Given the description of an element on the screen output the (x, y) to click on. 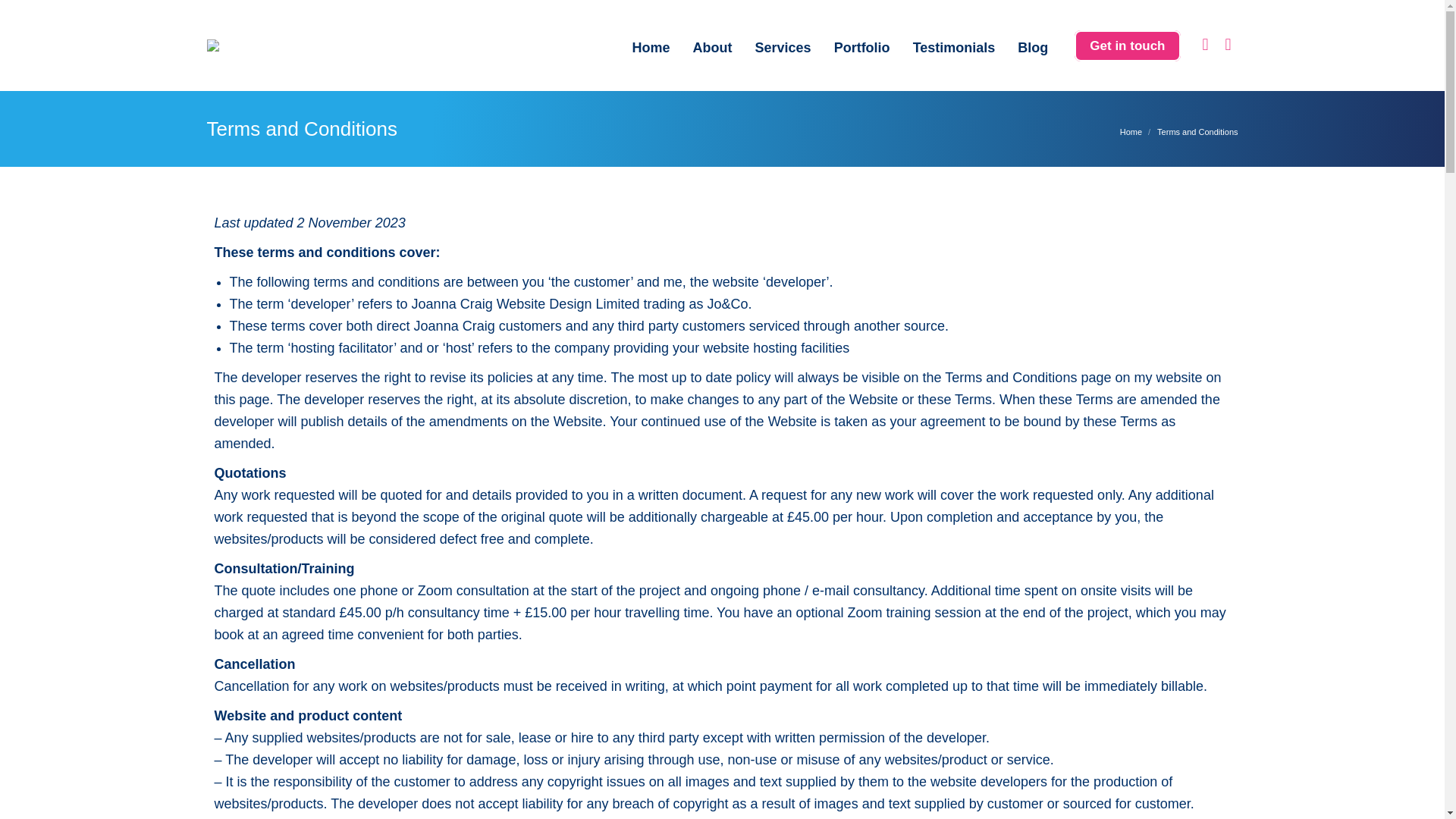
Testimonials (953, 45)
Home (1130, 131)
Portfolio (861, 45)
About (712, 45)
Get in touch (1126, 45)
Blog (1032, 45)
X page opens in new window (1227, 44)
Facebook page opens in new window (1204, 44)
Home (651, 45)
Services (783, 45)
